Given the description of an element on the screen output the (x, y) to click on. 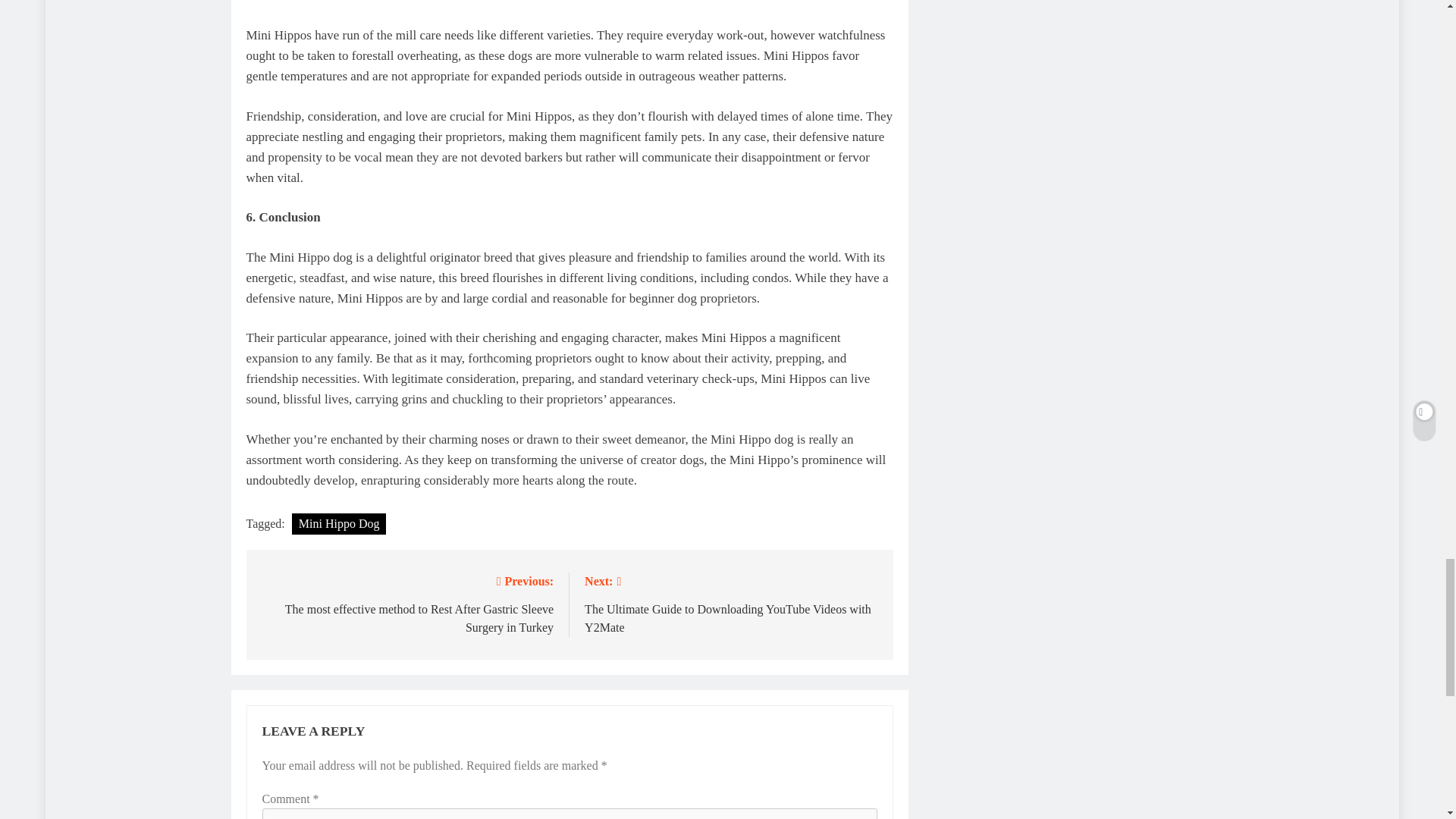
Mini Hippo Dog (339, 523)
